Given the description of an element on the screen output the (x, y) to click on. 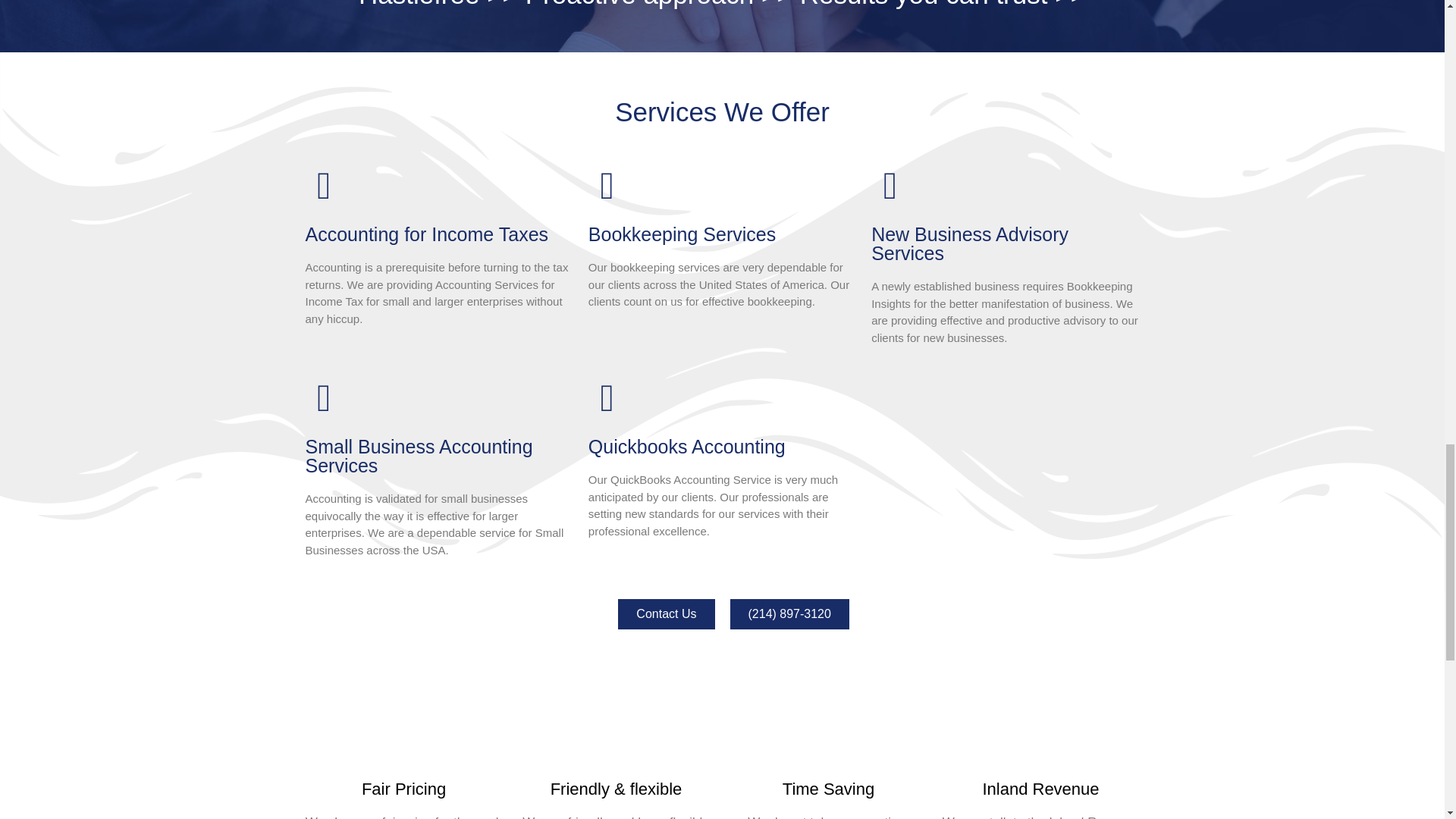
Contact Us (665, 613)
teamworknew (1040, 727)
discounts (403, 727)
team (615, 727)
call-center (827, 727)
